Given the description of an element on the screen output the (x, y) to click on. 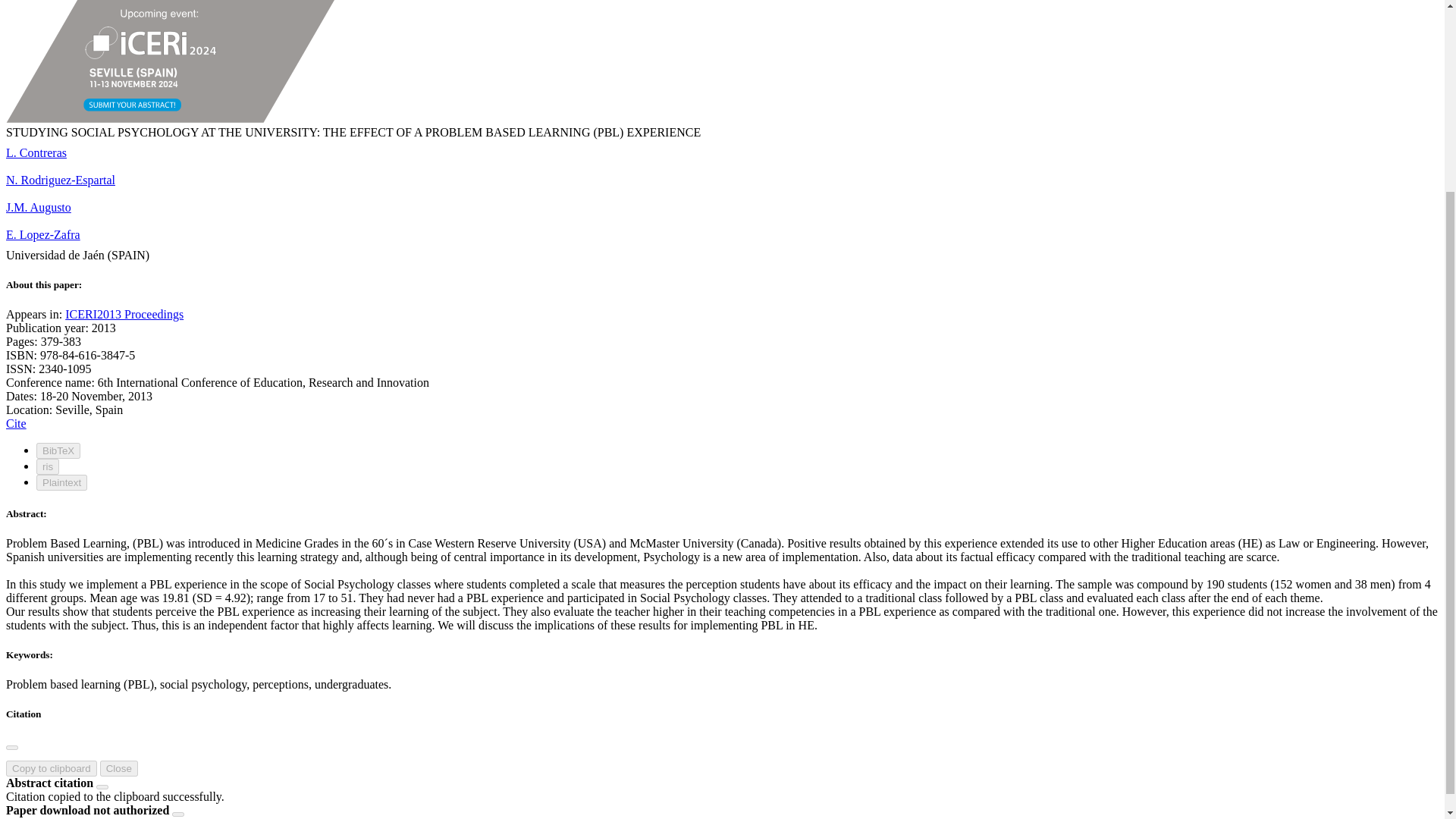
N. Rodriguez-Espartal (60, 179)
Cite (15, 422)
BibTeX (58, 450)
ICERI2013 Proceedings (124, 314)
Close (119, 768)
J.M. Augusto (38, 206)
Copy to clipboard (51, 768)
L. Contreras (35, 152)
E. Lopez-Zafra (42, 234)
ris (47, 466)
